Given the description of an element on the screen output the (x, y) to click on. 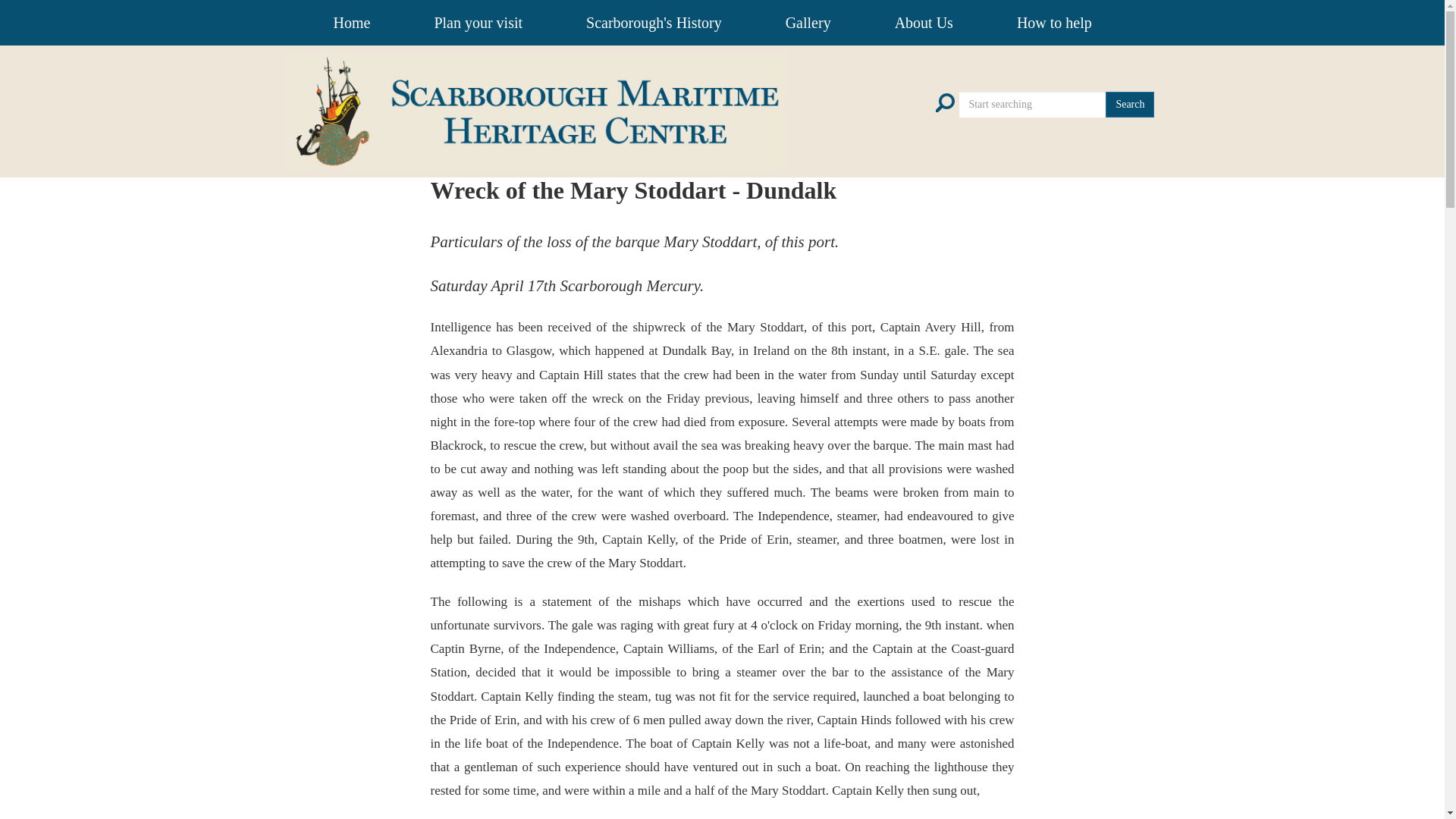
Home (352, 22)
Plan your visit (477, 22)
Scarborough's History (654, 22)
